Given the description of an element on the screen output the (x, y) to click on. 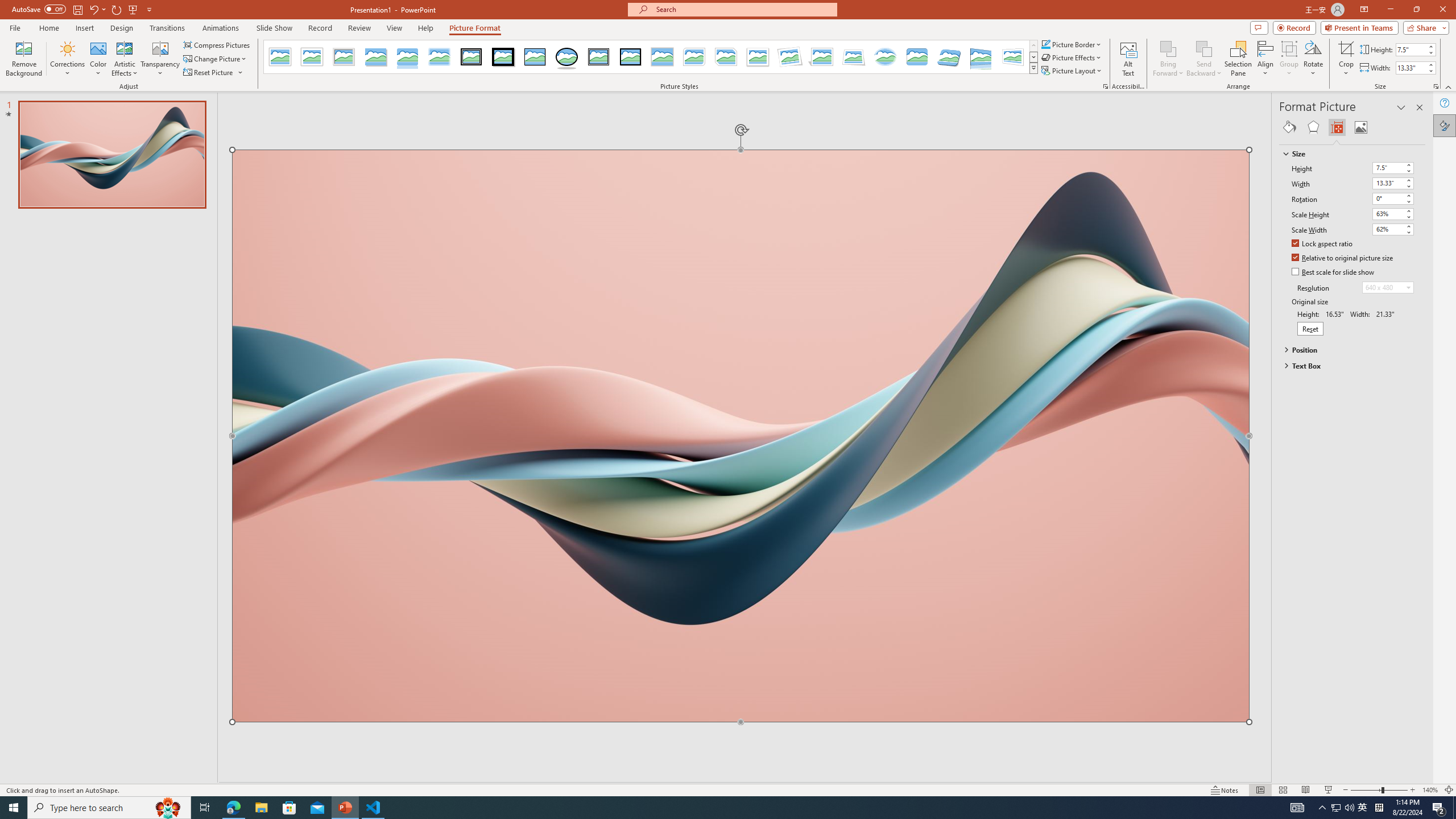
Rotation (1388, 198)
Rounded Diagonal Corner, White (694, 56)
Moderate Frame, White (758, 56)
Shape Width (1410, 67)
AutomationID: PictureStylesGallery (650, 56)
Transparency (160, 58)
Rotation (1393, 198)
Beveled Oval, Black (566, 56)
Send Backward (1204, 48)
